Given the description of an element on the screen output the (x, y) to click on. 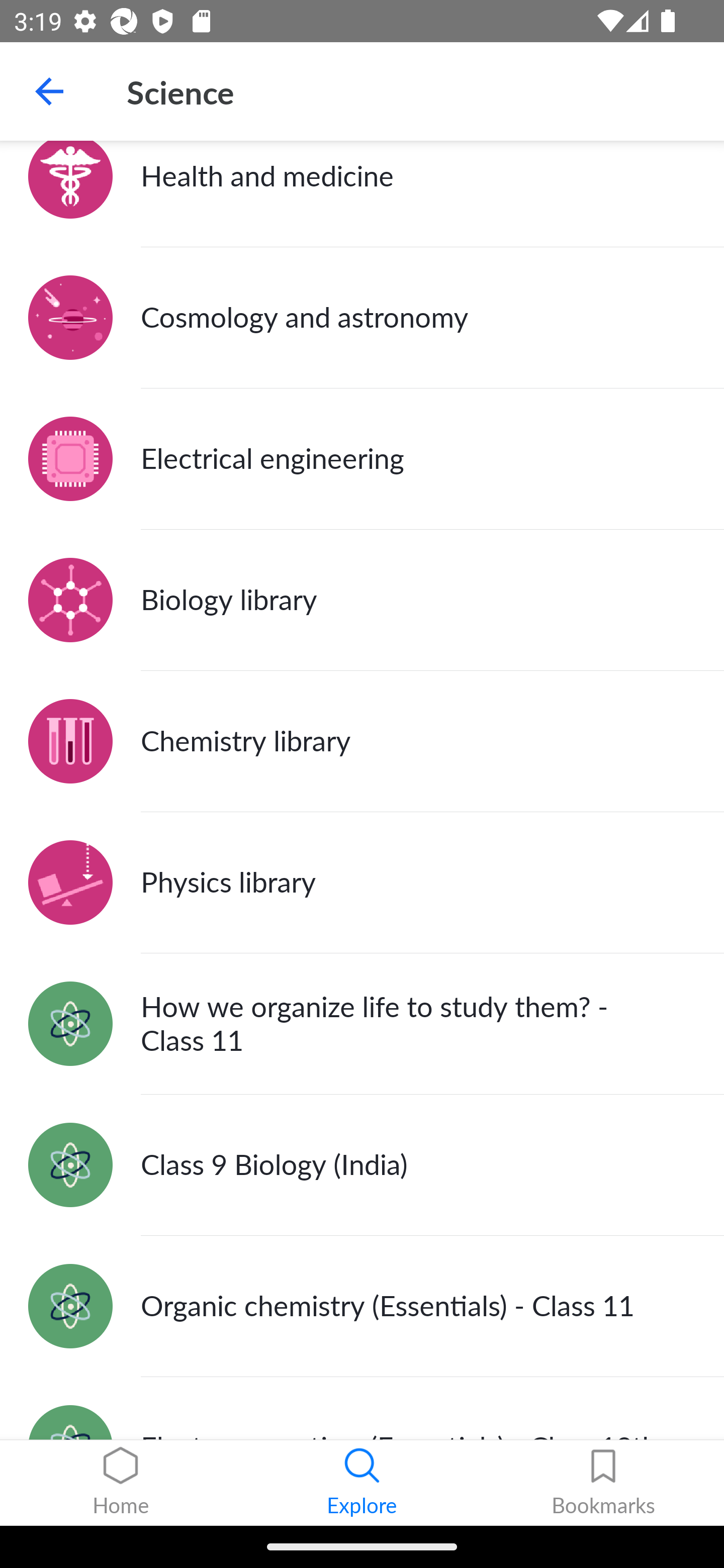
Navigate up (49, 91)
Health and medicine (362, 194)
Cosmology and astronomy (362, 317)
Electrical engineering (362, 458)
Biology library (362, 600)
Chemistry library (362, 741)
Physics library (362, 882)
How we organize life to study them? - Class 11 (362, 1023)
Class 9 Biology (India) (362, 1164)
Organic chemistry (Essentials) - Class 11 (362, 1305)
Home (120, 1482)
Explore (361, 1482)
Bookmarks (603, 1482)
